Given the description of an element on the screen output the (x, y) to click on. 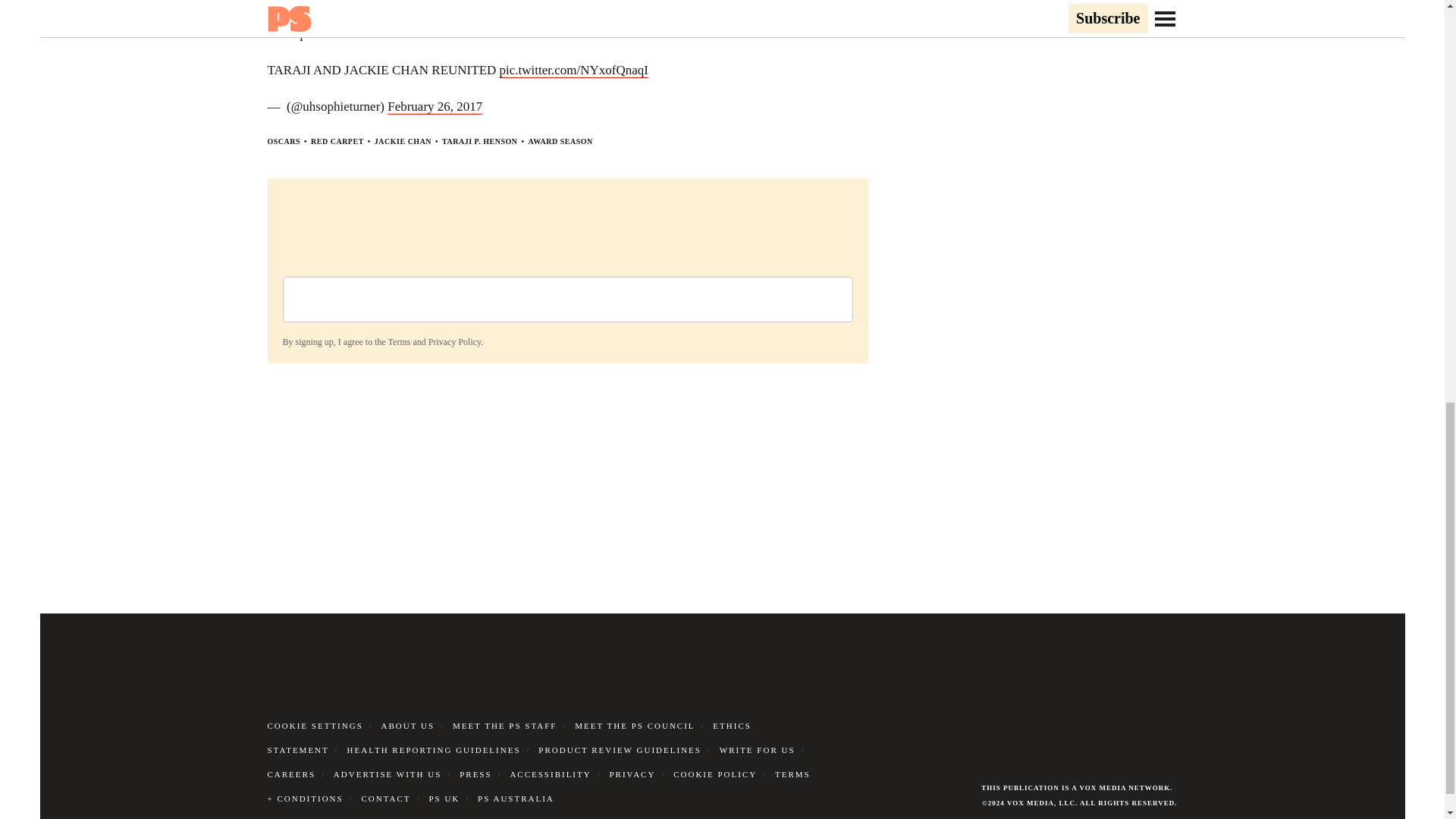
AWARD SEASON (560, 141)
JACKIE CHAN (402, 141)
ETHICS STATEMENT (508, 737)
CAREERS (290, 774)
WRITE FOR US (756, 749)
ABOUT US (408, 725)
OSCARS (282, 141)
ADVERTISE WITH US (387, 774)
February 26, 2017 (434, 106)
RED CARPET (337, 141)
MEET THE PS COUNCIL (634, 725)
Terms (399, 341)
TARAJI P. HENSON (479, 141)
MEET THE PS STAFF (504, 725)
HEALTH REPORTING GUIDELINES (434, 749)
